Given the description of an element on the screen output the (x, y) to click on. 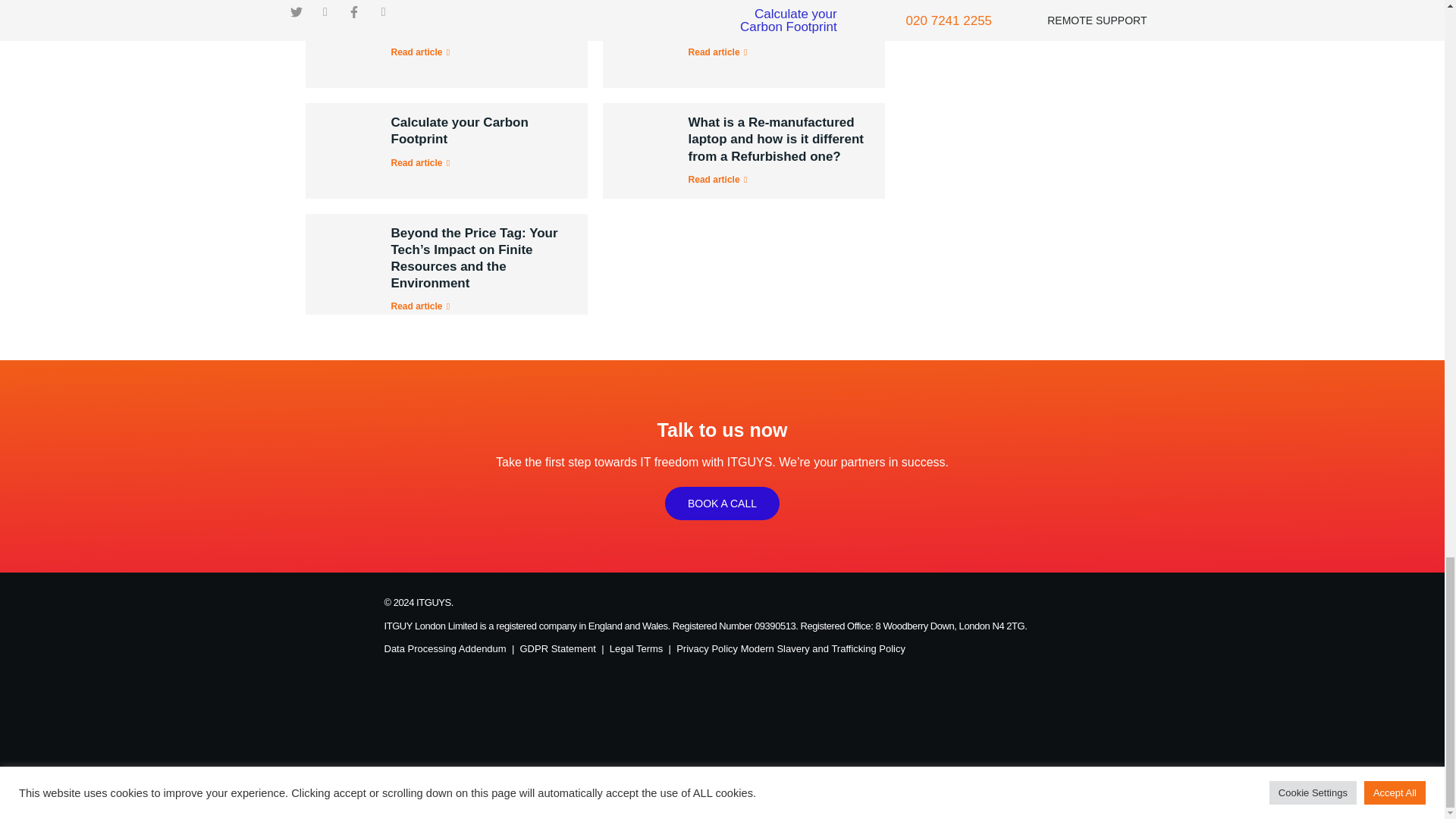
Read article (719, 51)
What is a Managed Service Contract? (770, 20)
Read article (422, 51)
